Given the description of an element on the screen output the (x, y) to click on. 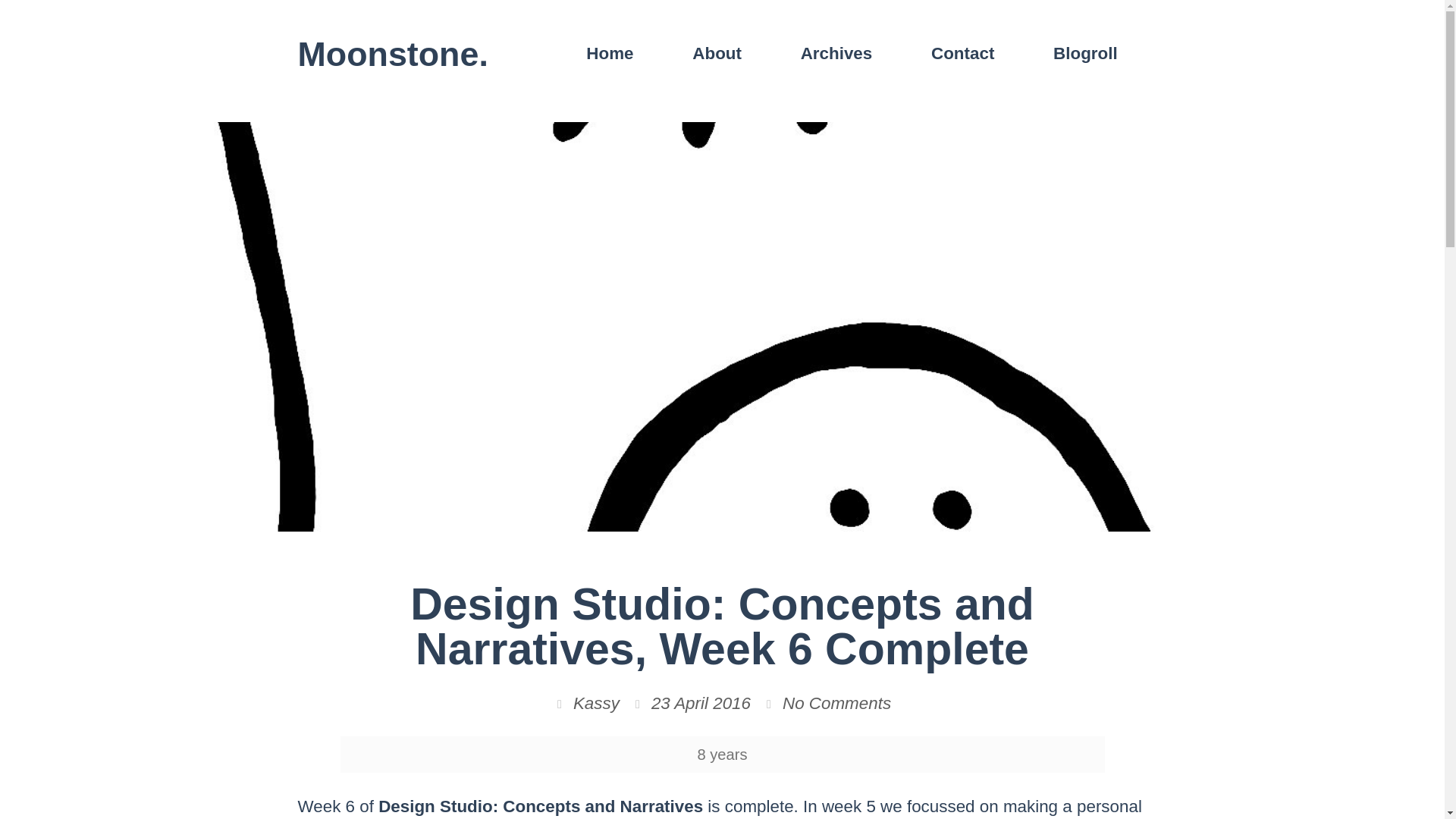
Home (609, 53)
Design Studio: Concepts and Narratives (540, 805)
Archives (836, 53)
Contact (962, 53)
About (716, 53)
Blogroll (1085, 53)
Moonstone. (392, 53)
